Given the description of an element on the screen output the (x, y) to click on. 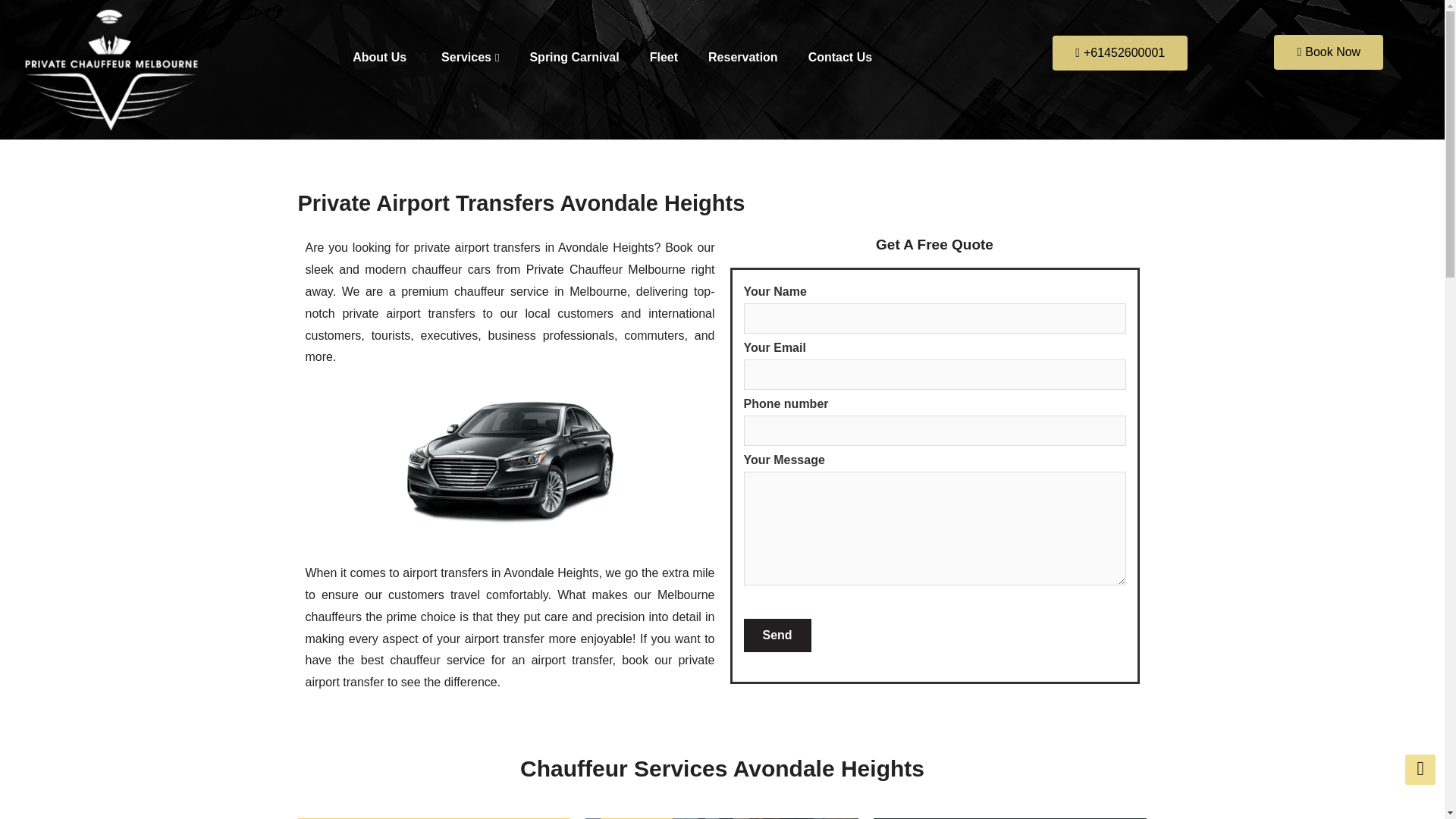
Fleet (663, 57)
Spring Carnival (573, 57)
About Us (379, 57)
Reservation (743, 57)
Send (776, 635)
Book Now (1328, 52)
Contact Us (839, 57)
Services (469, 57)
